Given the description of an element on the screen output the (x, y) to click on. 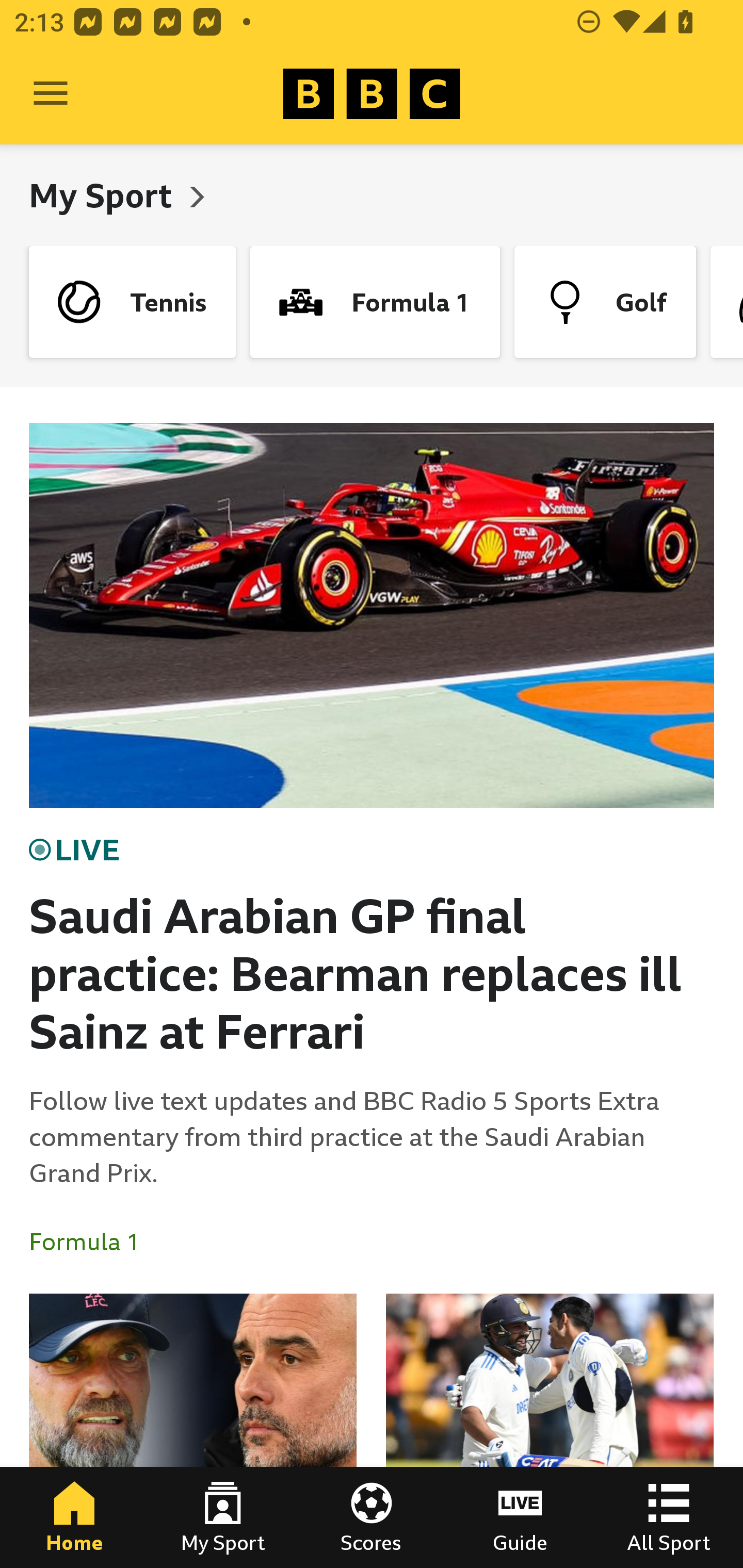
Open Menu (50, 93)
My Sport (104, 195)
Formula 1 In the section Formula 1 (91, 1241)
India build big lead despite Stokes' return wicket (549, 1430)
My Sport (222, 1517)
Scores (371, 1517)
Guide (519, 1517)
All Sport (668, 1517)
